Given the description of an element on the screen output the (x, y) to click on. 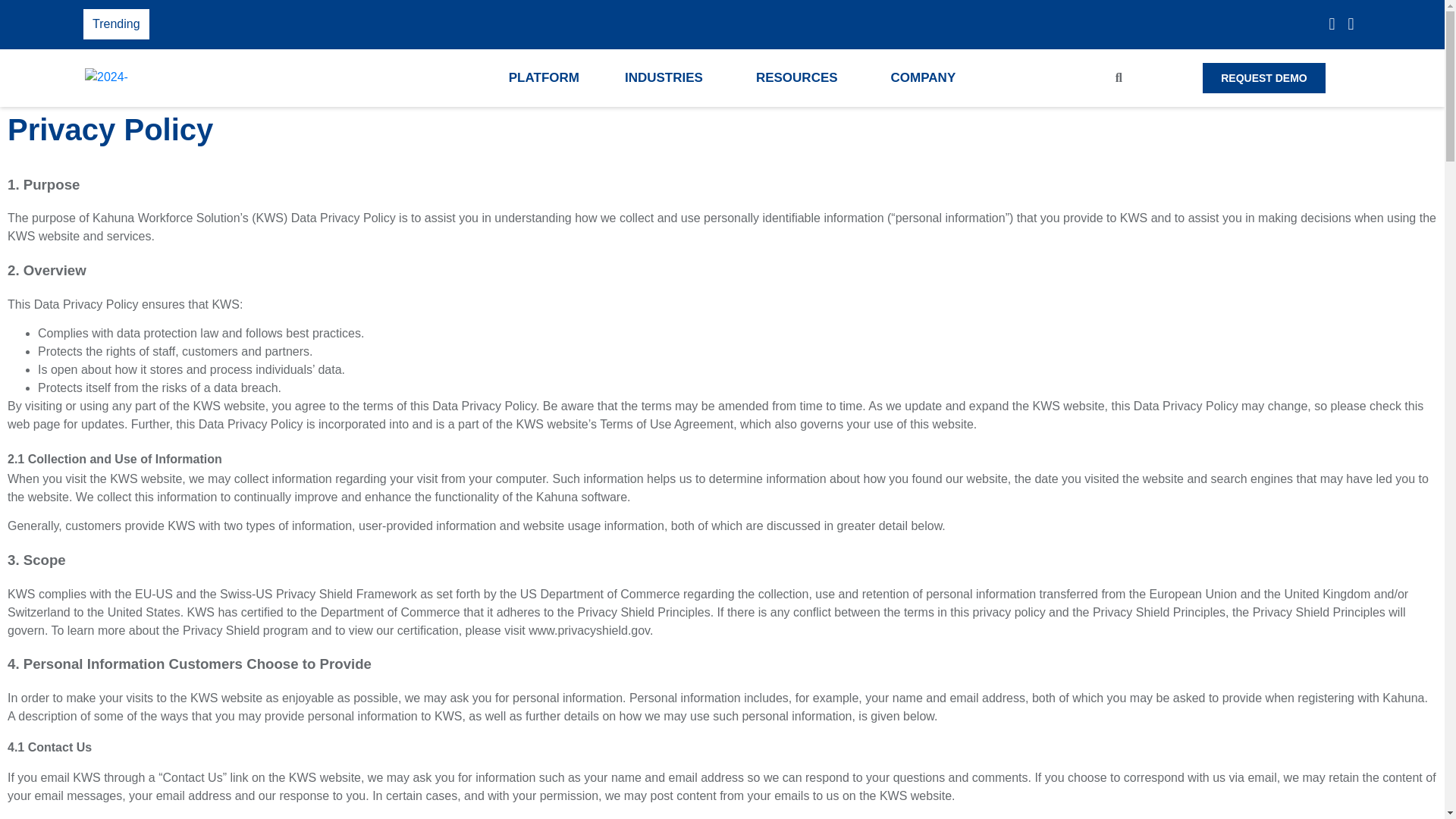
RESOURCES (800, 77)
PLATFORM (543, 77)
COMPANY (927, 77)
INDUSTRIES (667, 77)
